Given the description of an element on the screen output the (x, y) to click on. 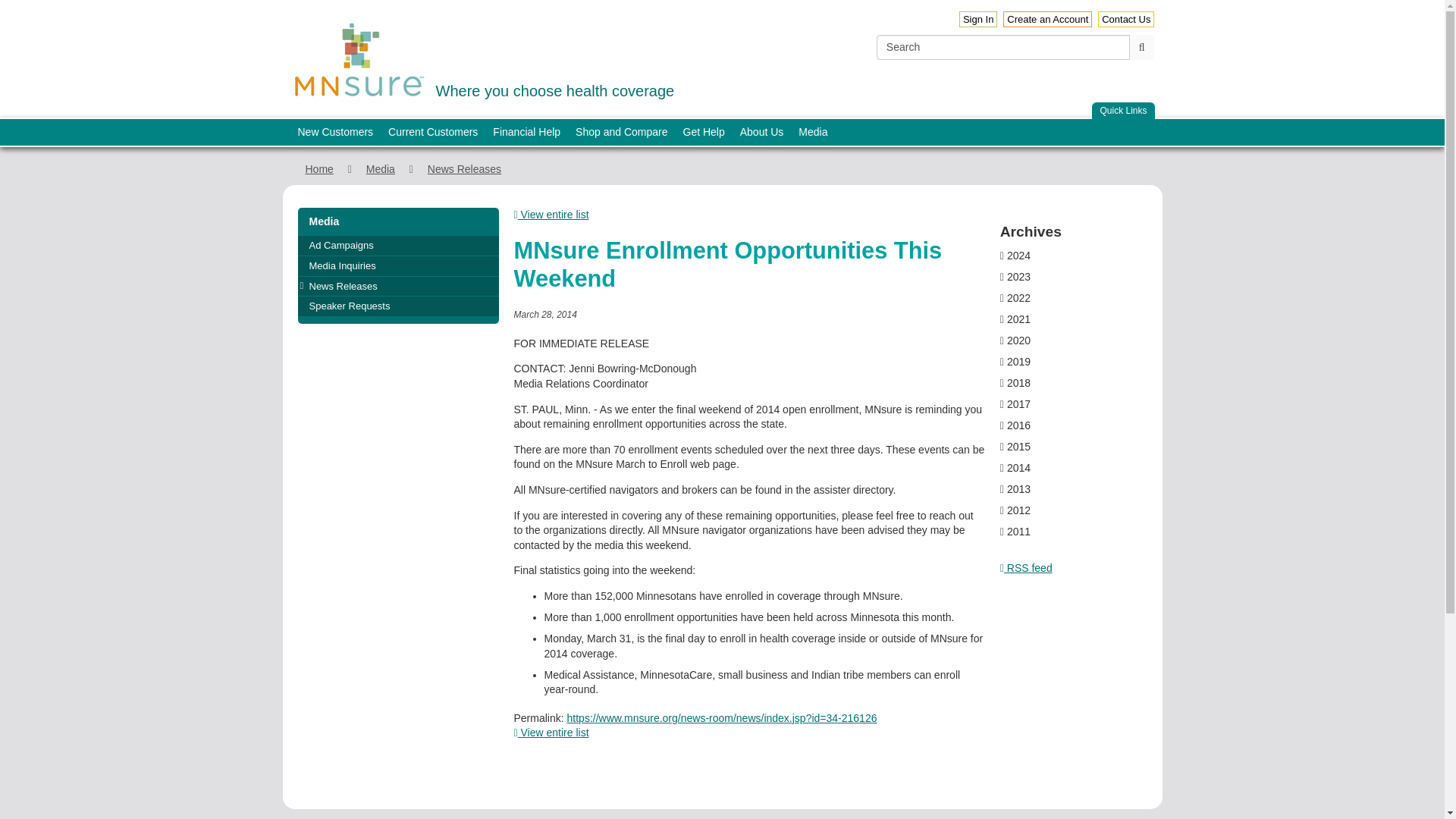
New Customers (334, 131)
Quick Links (1123, 110)
return to home page (481, 57)
Contact Us (358, 60)
Create an Account (1125, 19)
submit (1047, 19)
Sign In (1141, 47)
